Given the description of an element on the screen output the (x, y) to click on. 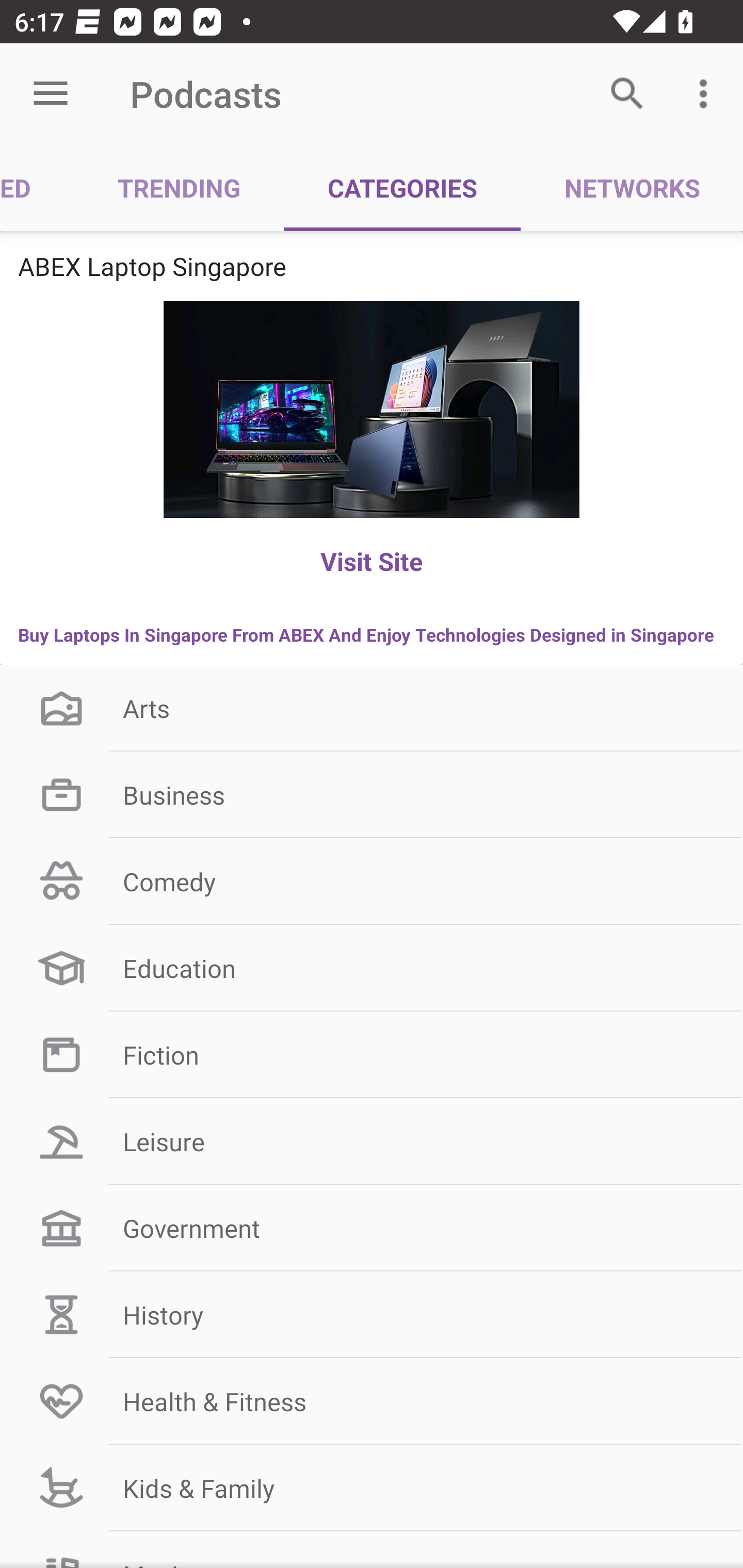
Open menu (50, 93)
Search (626, 93)
More options (706, 93)
TRENDING (178, 187)
CATEGORIES (401, 187)
NETWORKS (631, 187)
ABEX Laptop Singapore (371, 266)
Visit Site (371, 561)
Arts (371, 707)
Business (371, 794)
Comedy (371, 881)
Education (371, 968)
Fiction (371, 1054)
Leisure (371, 1141)
Government (371, 1228)
History (371, 1314)
Health & Fitness (371, 1400)
Kids & Family (371, 1487)
